Given the description of an element on the screen output the (x, y) to click on. 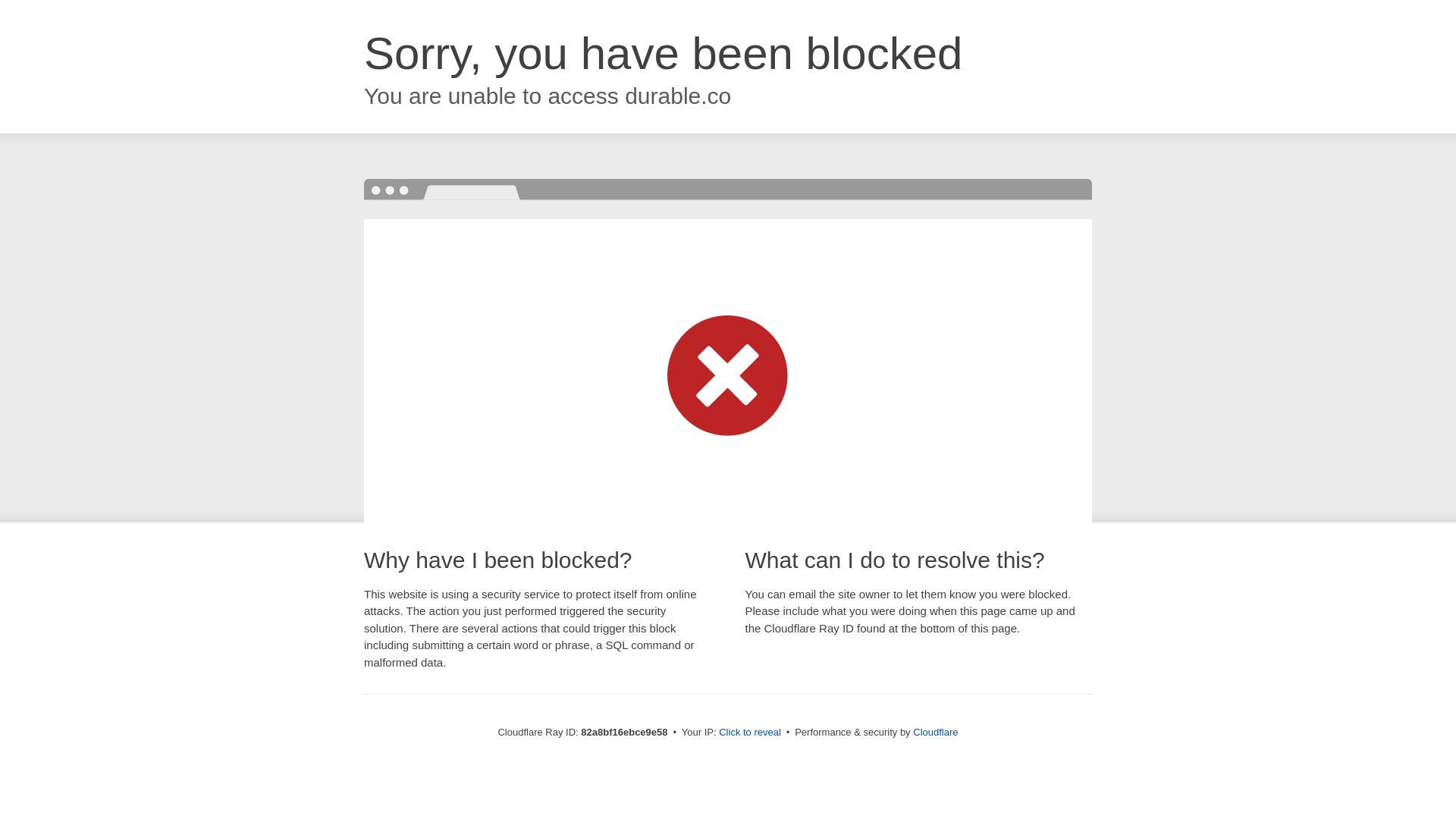
Click to reveal Element type: text (749, 732)
Cloudflare Element type: text (935, 731)
